Given the description of an element on the screen output the (x, y) to click on. 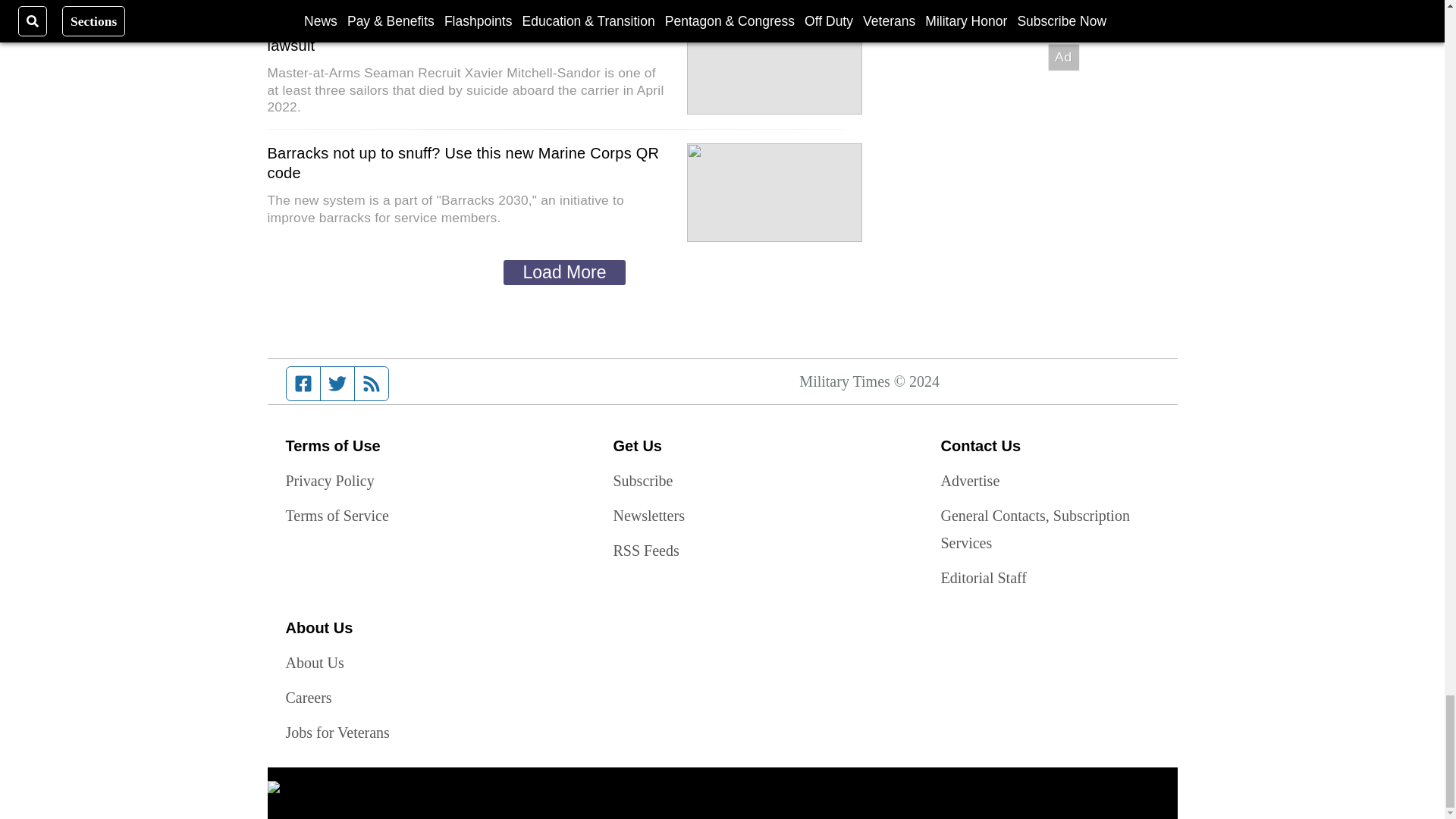
RSS feed (371, 383)
Facebook page (303, 383)
Twitter feed (336, 383)
